Given the description of an element on the screen output the (x, y) to click on. 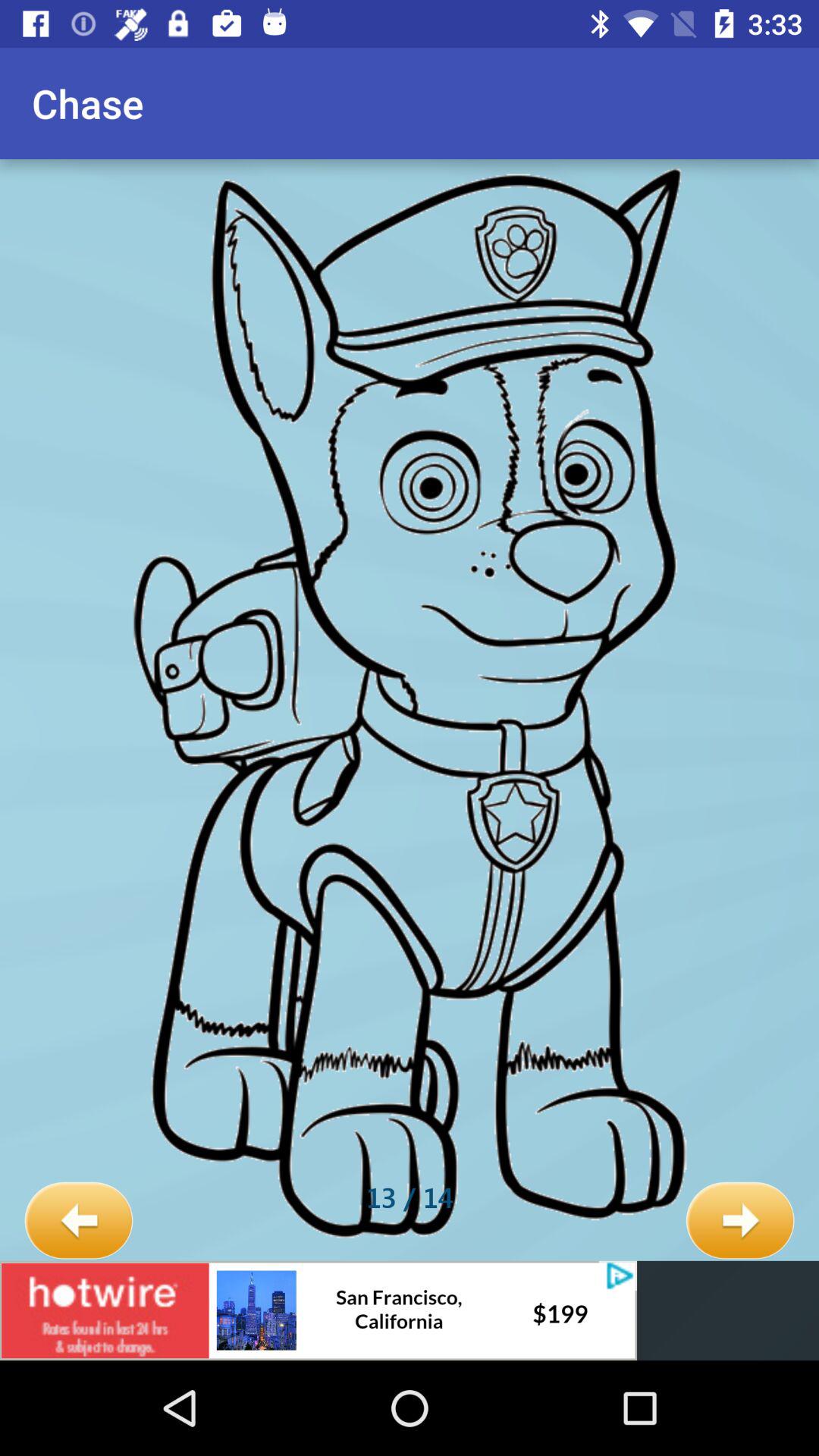
turn on icon below chase icon (78, 1220)
